Given the description of an element on the screen output the (x, y) to click on. 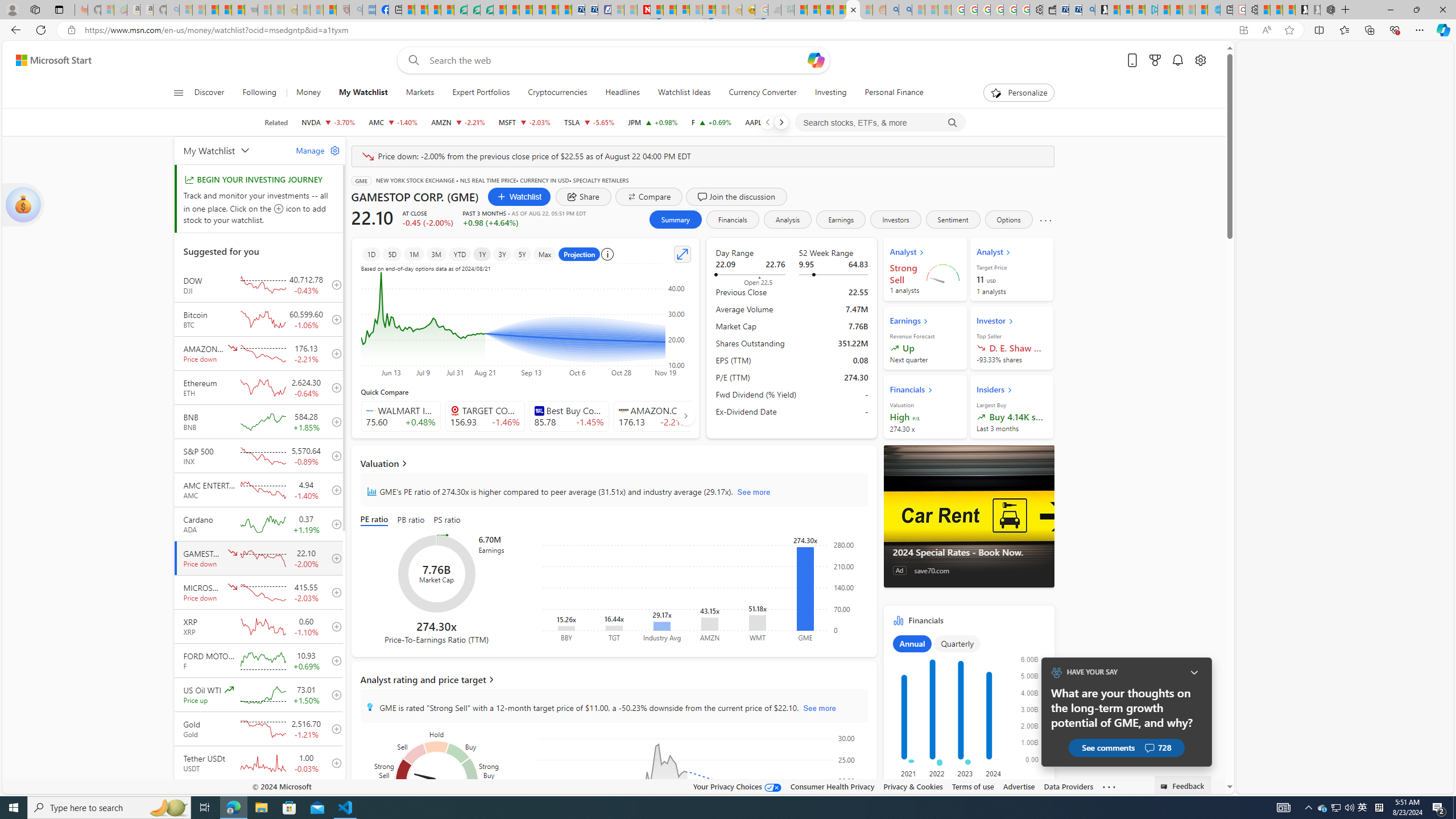
Sentiment (952, 219)
Summary (675, 219)
New Report Confirms 2023 Was Record Hot | Watch (237, 9)
3M (436, 254)
1Y (482, 254)
YTD (459, 254)
2024 Special Rates - Book Now. (968, 552)
